Given the description of an element on the screen output the (x, y) to click on. 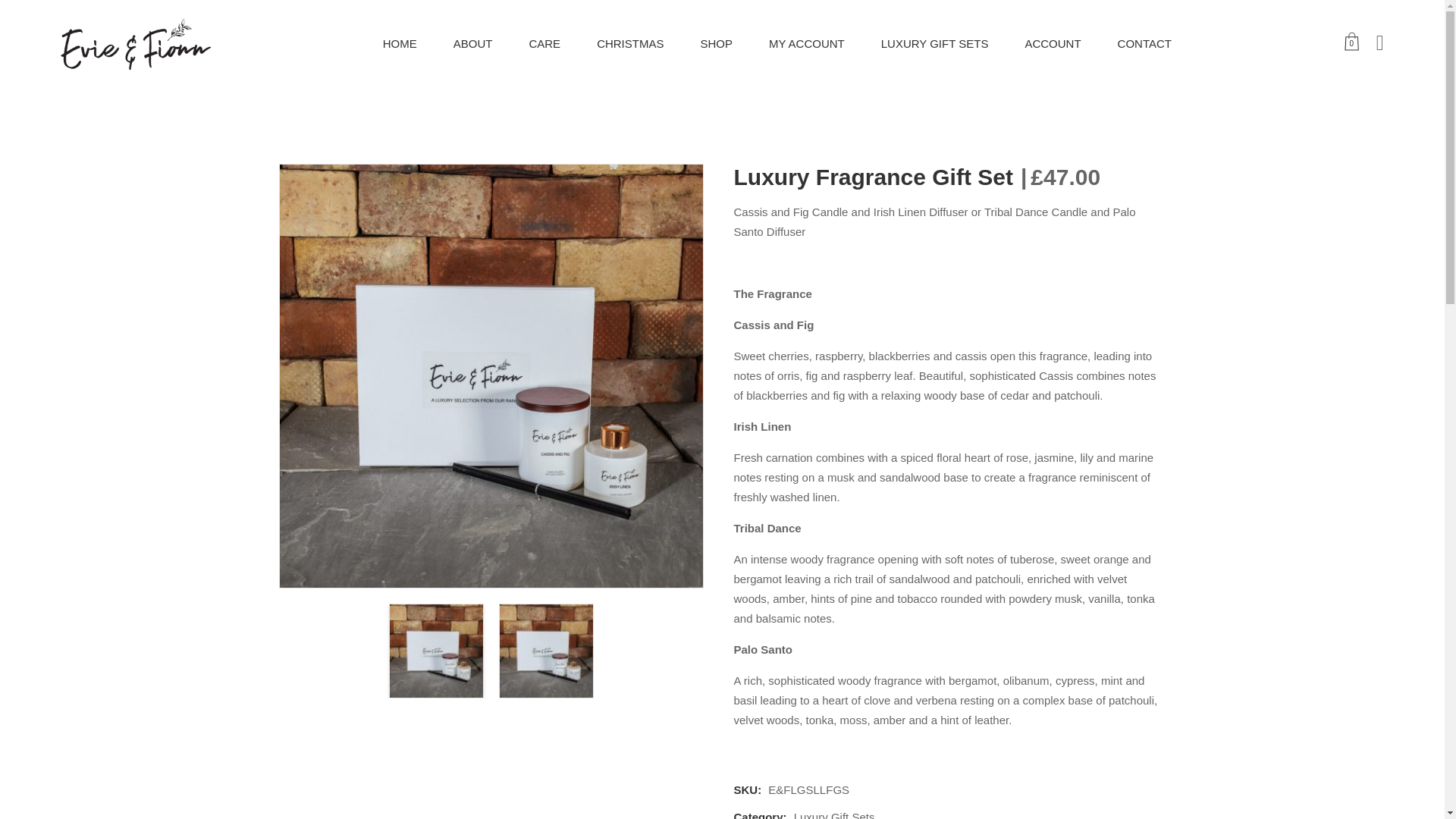
ACCOUNT (1051, 43)
Luxury Fragrance Gift Set1 (436, 650)
LUXURY GIFT SETS (934, 43)
ABOUT (473, 43)
Luxury Fragrance Gift Set (545, 650)
CHRISTMAS (630, 43)
Luxury Gift Sets (832, 814)
MY ACCOUNT (806, 43)
HOME (400, 43)
CARE (544, 43)
CONTACT (1144, 43)
SHOP (715, 43)
